Given the description of an element on the screen output the (x, y) to click on. 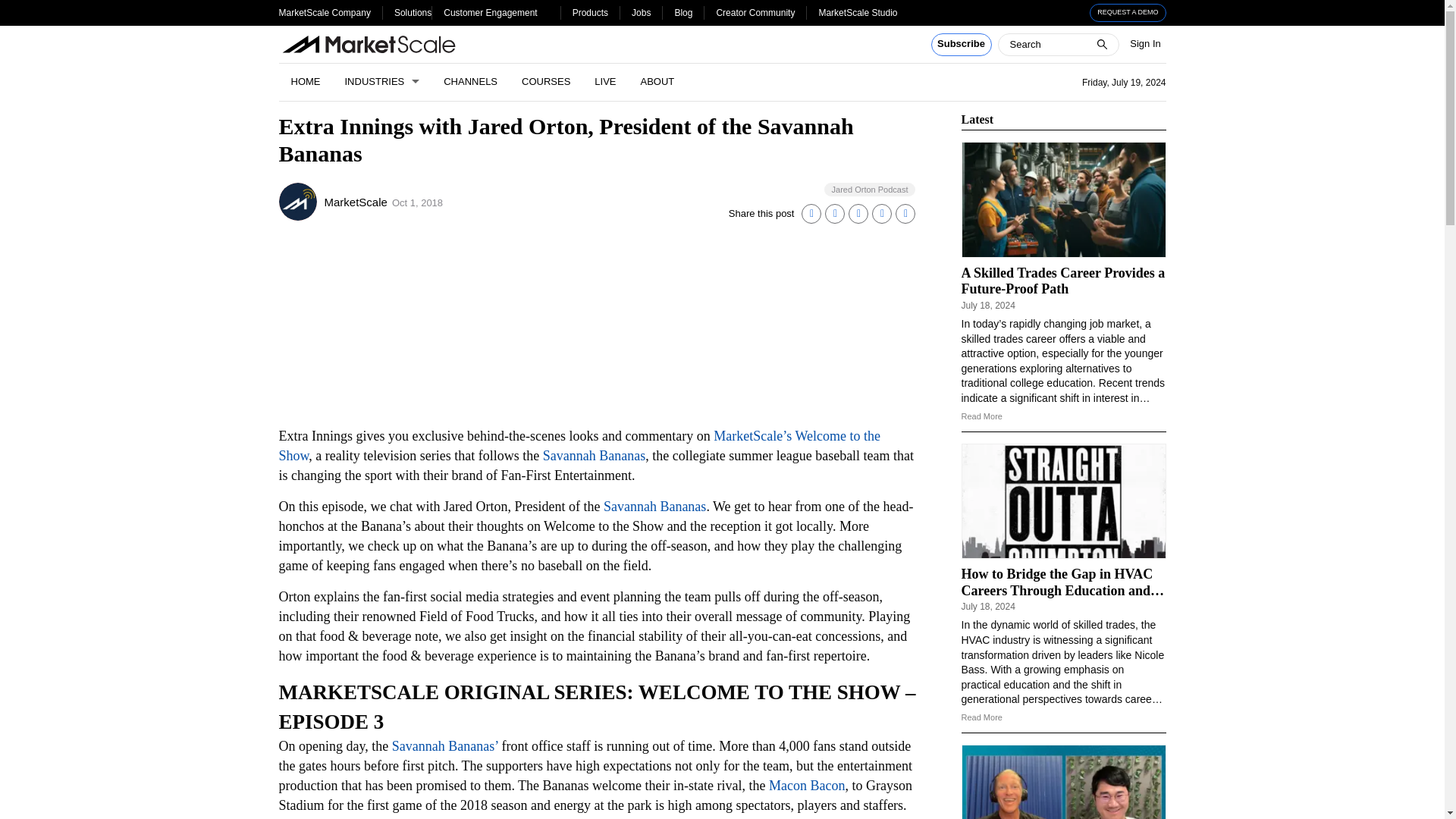
Solutions (412, 12)
Search (21, 7)
Products (590, 12)
Creator Community (755, 12)
Blog (683, 12)
Share on Email (881, 213)
Copy Link (905, 213)
MarketScale (355, 201)
Share on Linkedin (811, 213)
MarketScale (298, 201)
REQUEST A DEMO (1127, 13)
Subscribe (961, 44)
Share on Facebook (857, 213)
Jobs (640, 12)
Share on X (834, 213)
